Given the description of an element on the screen output the (x, y) to click on. 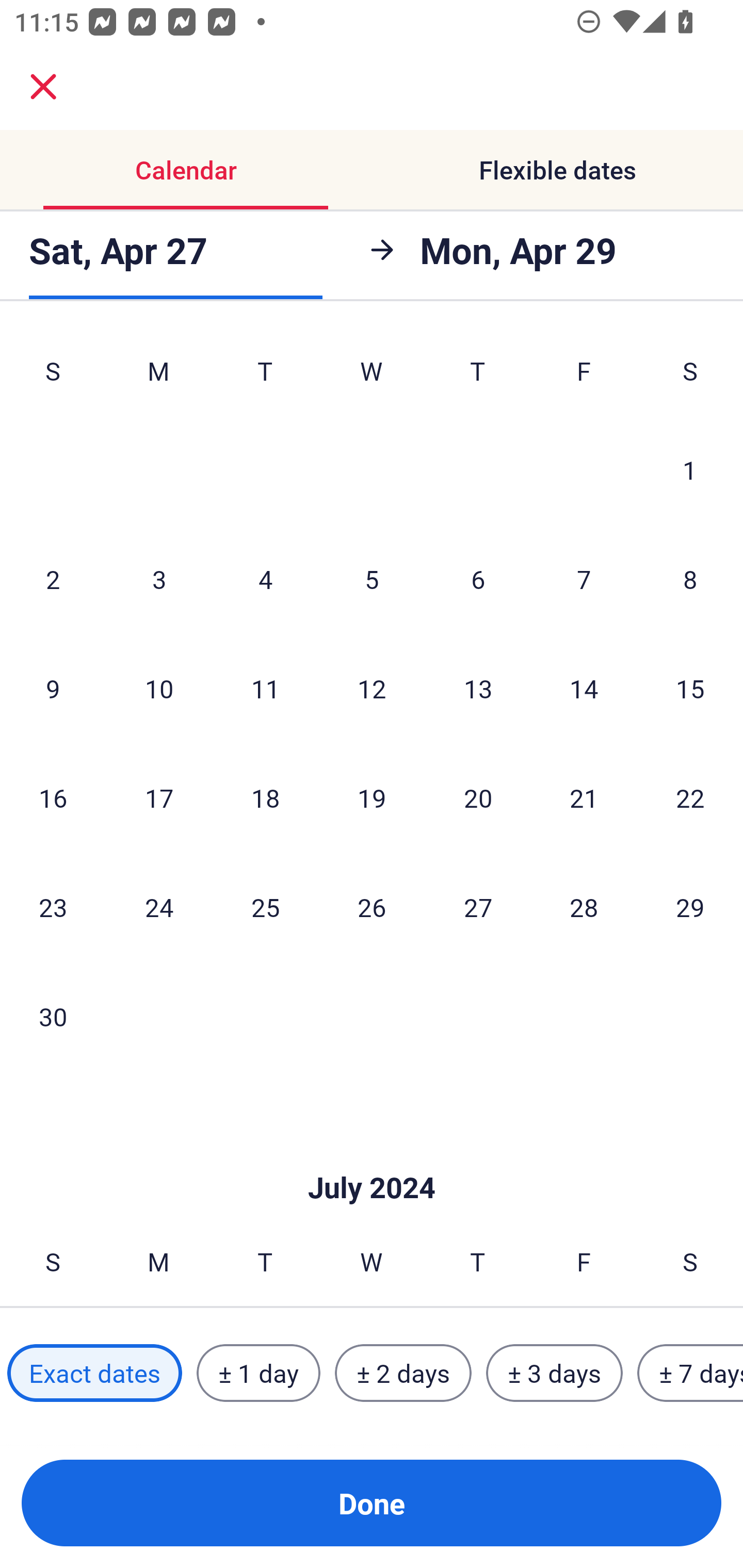
close. (43, 86)
Flexible dates (557, 170)
1 Saturday, June 1, 2024 (689, 469)
2 Sunday, June 2, 2024 (53, 578)
3 Monday, June 3, 2024 (159, 578)
4 Tuesday, June 4, 2024 (265, 578)
5 Wednesday, June 5, 2024 (371, 578)
6 Thursday, June 6, 2024 (477, 578)
7 Friday, June 7, 2024 (584, 578)
8 Saturday, June 8, 2024 (690, 578)
9 Sunday, June 9, 2024 (53, 688)
10 Monday, June 10, 2024 (159, 688)
11 Tuesday, June 11, 2024 (265, 688)
12 Wednesday, June 12, 2024 (371, 688)
13 Thursday, June 13, 2024 (477, 688)
14 Friday, June 14, 2024 (584, 688)
15 Saturday, June 15, 2024 (690, 688)
16 Sunday, June 16, 2024 (53, 796)
17 Monday, June 17, 2024 (159, 796)
18 Tuesday, June 18, 2024 (265, 796)
19 Wednesday, June 19, 2024 (371, 796)
20 Thursday, June 20, 2024 (477, 796)
21 Friday, June 21, 2024 (584, 796)
22 Saturday, June 22, 2024 (690, 796)
23 Sunday, June 23, 2024 (53, 906)
24 Monday, June 24, 2024 (159, 906)
25 Tuesday, June 25, 2024 (265, 906)
26 Wednesday, June 26, 2024 (371, 906)
27 Thursday, June 27, 2024 (477, 906)
28 Friday, June 28, 2024 (584, 906)
29 Saturday, June 29, 2024 (690, 906)
30 Sunday, June 30, 2024 (53, 1015)
Skip to Done (371, 1156)
Exact dates (94, 1372)
± 1 day (258, 1372)
± 2 days (403, 1372)
± 3 days (553, 1372)
± 7 days (690, 1372)
Done (371, 1502)
